Given the description of an element on the screen output the (x, y) to click on. 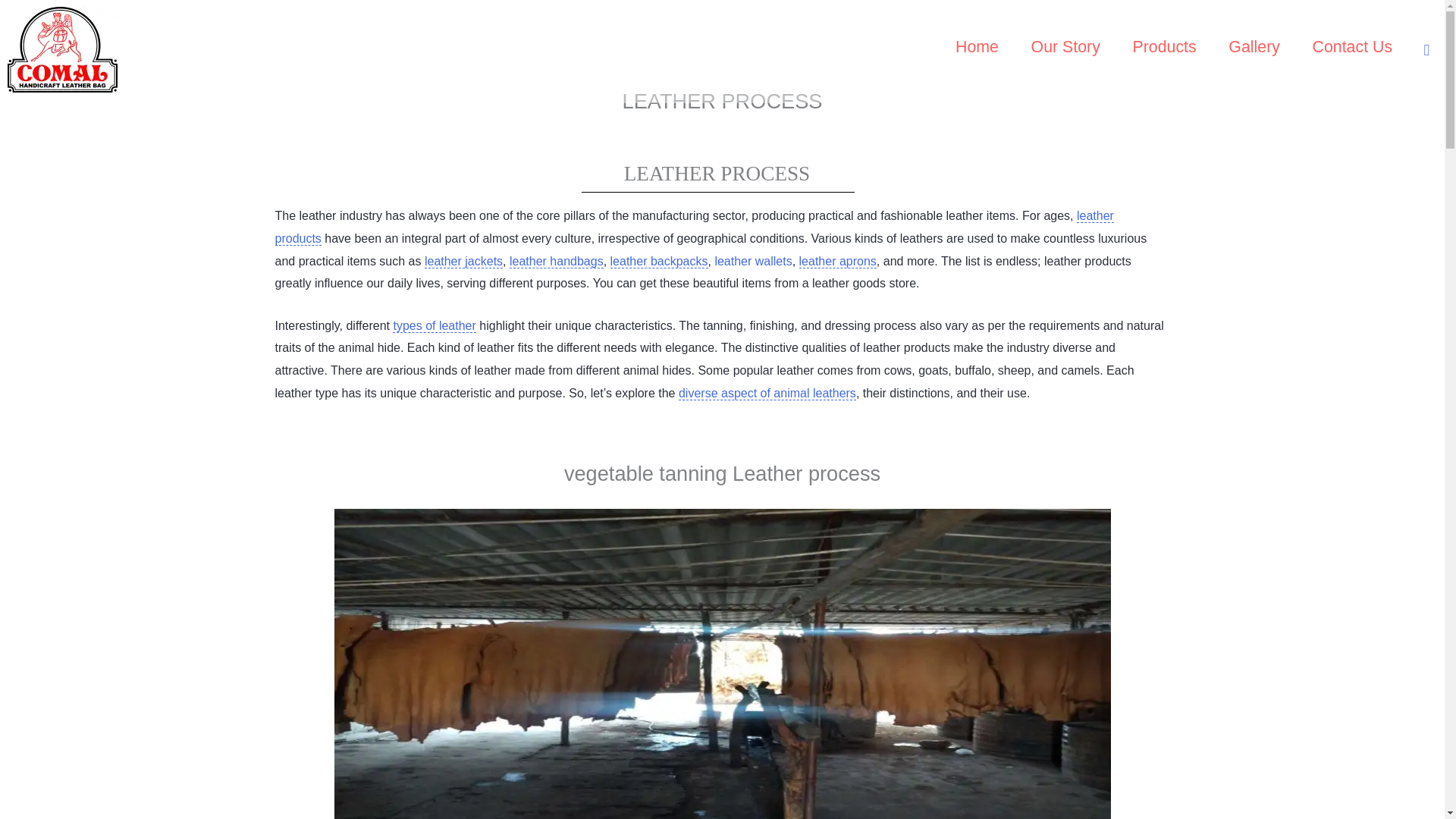
Home (976, 50)
Contact Us (1351, 50)
Gallery (1253, 50)
Our Story (1065, 50)
Products (1164, 50)
